Given the description of an element on the screen output the (x, y) to click on. 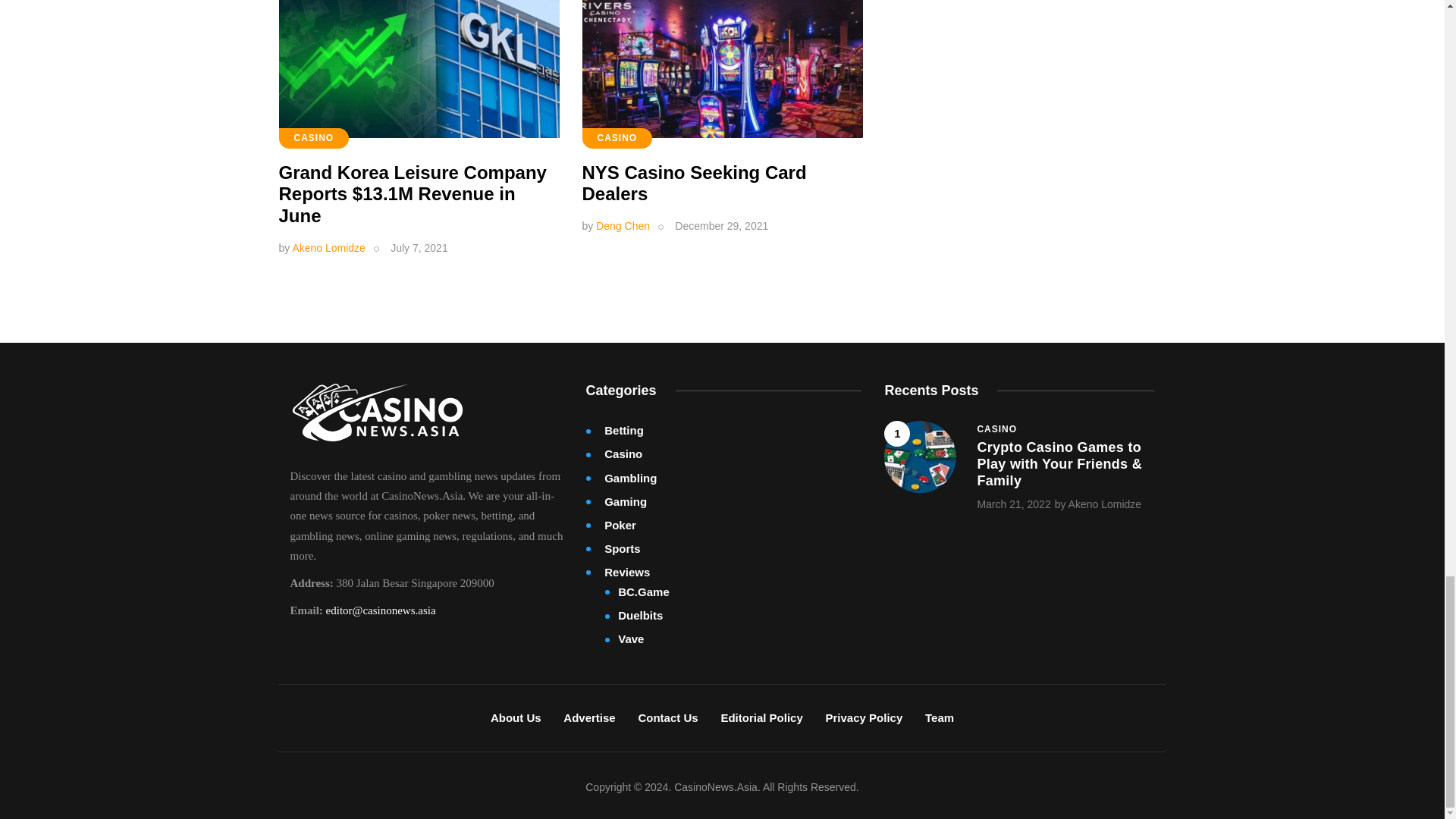
Casino News.Asia -Footer Logo (376, 412)
View all posts in Casino (996, 429)
